Given the description of an element on the screen output the (x, y) to click on. 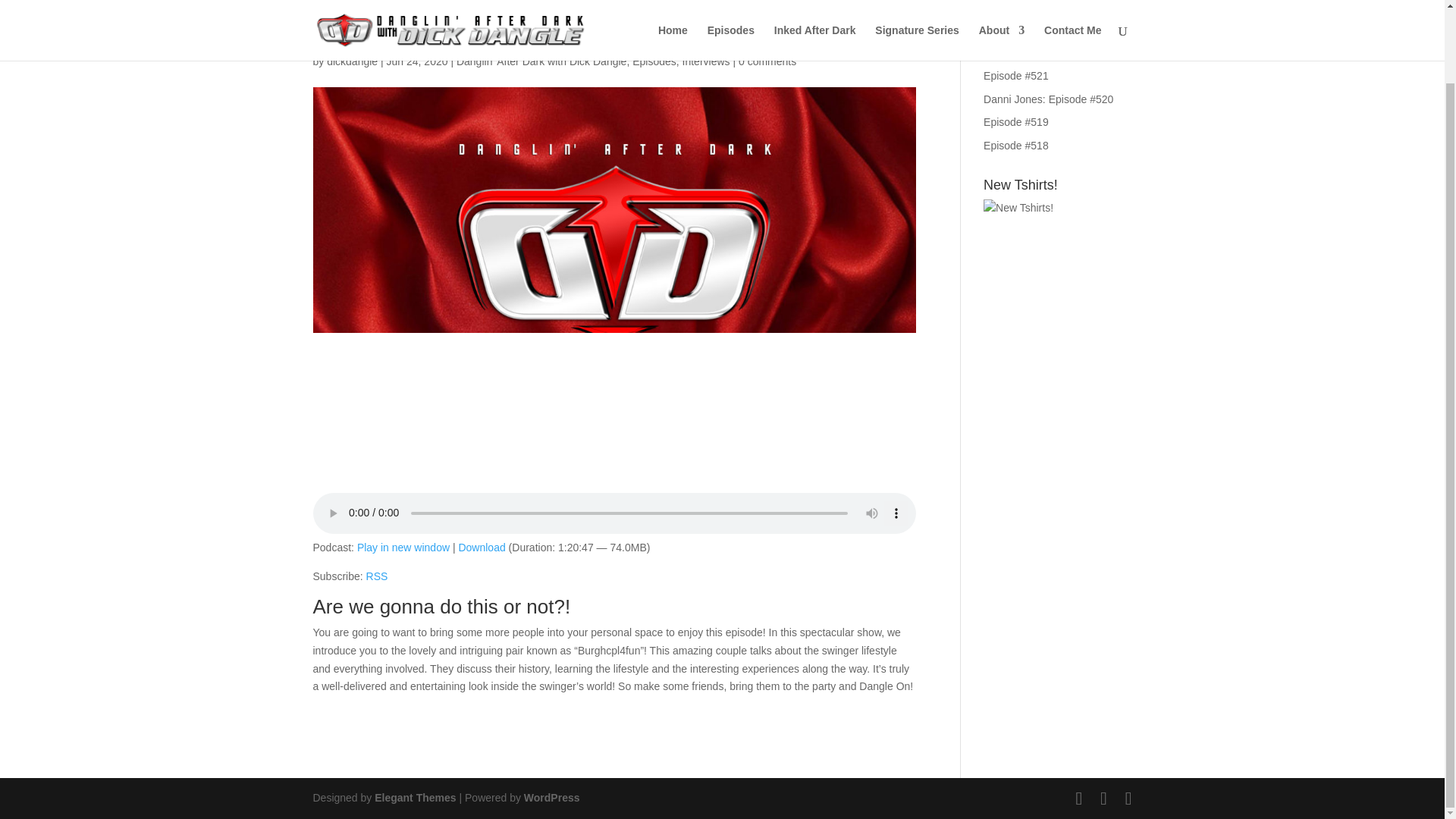
dickdangle (351, 61)
Posts by dickdangle (351, 61)
RSS (377, 576)
Premium WordPress Themes (414, 797)
New Tshirts! (1057, 246)
Play in new window (402, 547)
Download (481, 547)
Episodes (654, 61)
Elegant Themes (414, 797)
Download (481, 547)
